Given the description of an element on the screen output the (x, y) to click on. 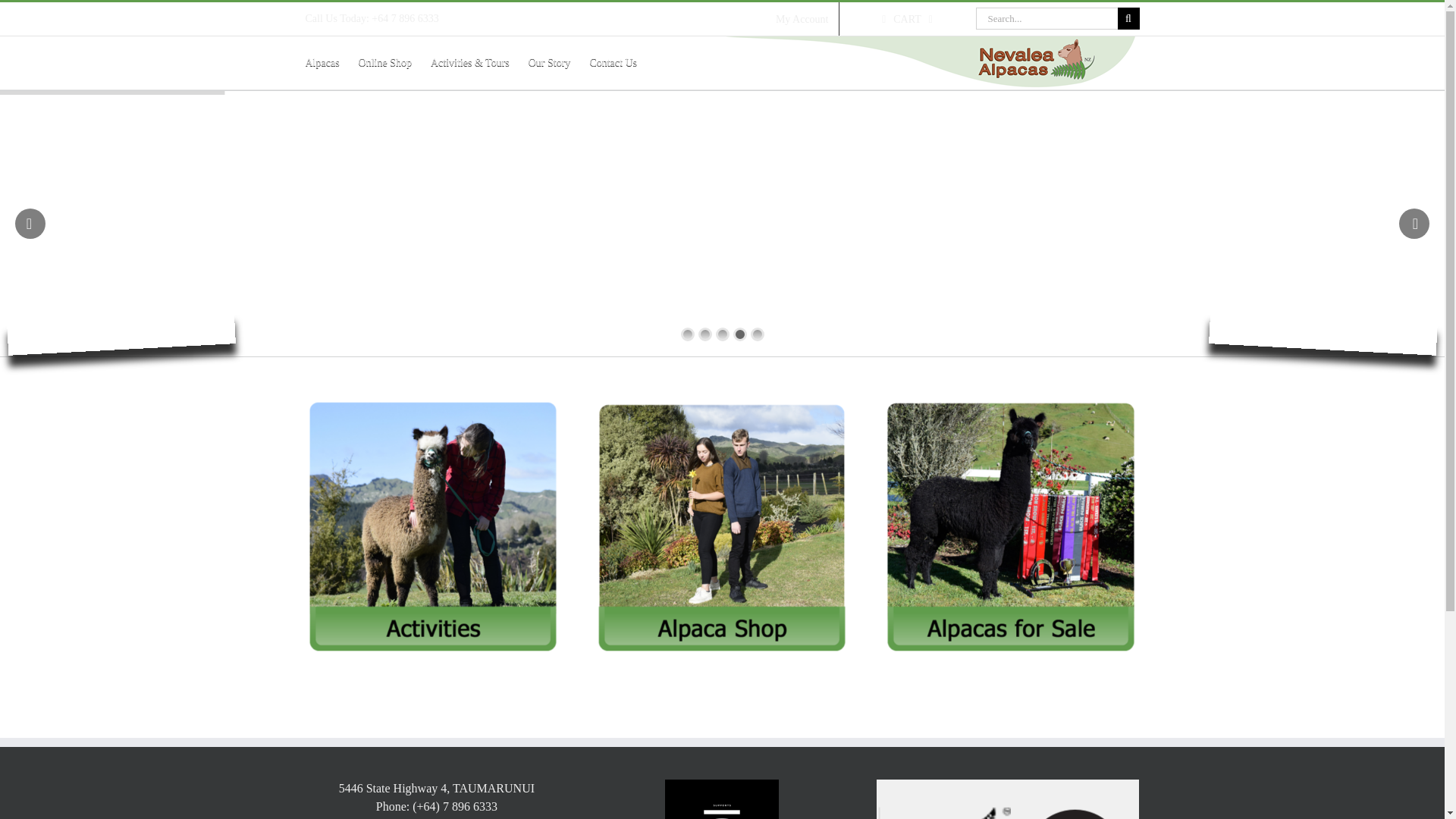
CART (906, 19)
My Account (801, 19)
Online Shop (385, 62)
Log In (946, 146)
